Given the description of an element on the screen output the (x, y) to click on. 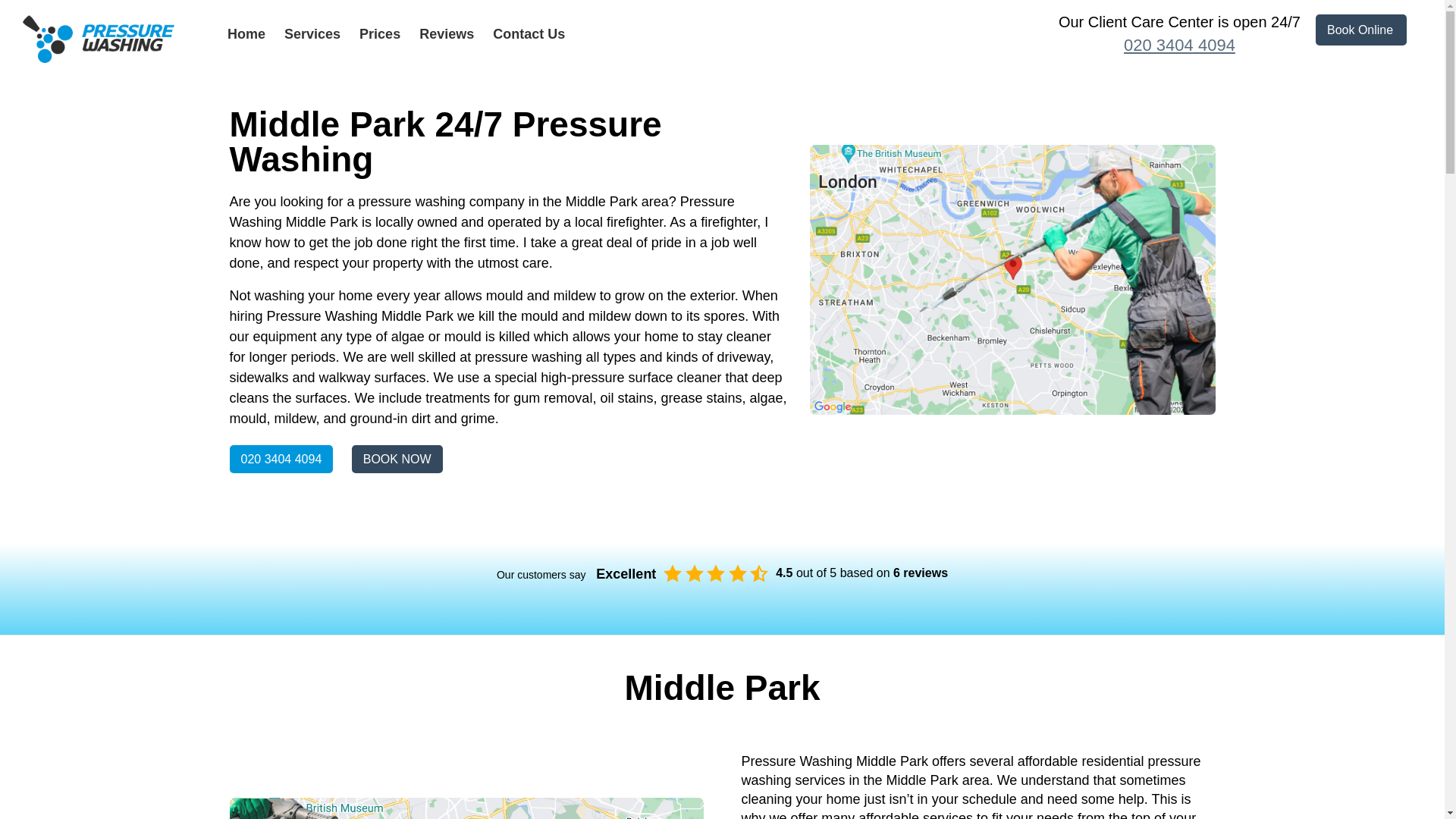
Book Online (1361, 29)
BOOK NOW (397, 459)
020 3404 4094 (280, 459)
Reviews (446, 33)
Services (311, 33)
Prices (379, 33)
Contact Us (528, 33)
Home (245, 33)
020 3404 4094 (1179, 45)
